Given the description of an element on the screen output the (x, y) to click on. 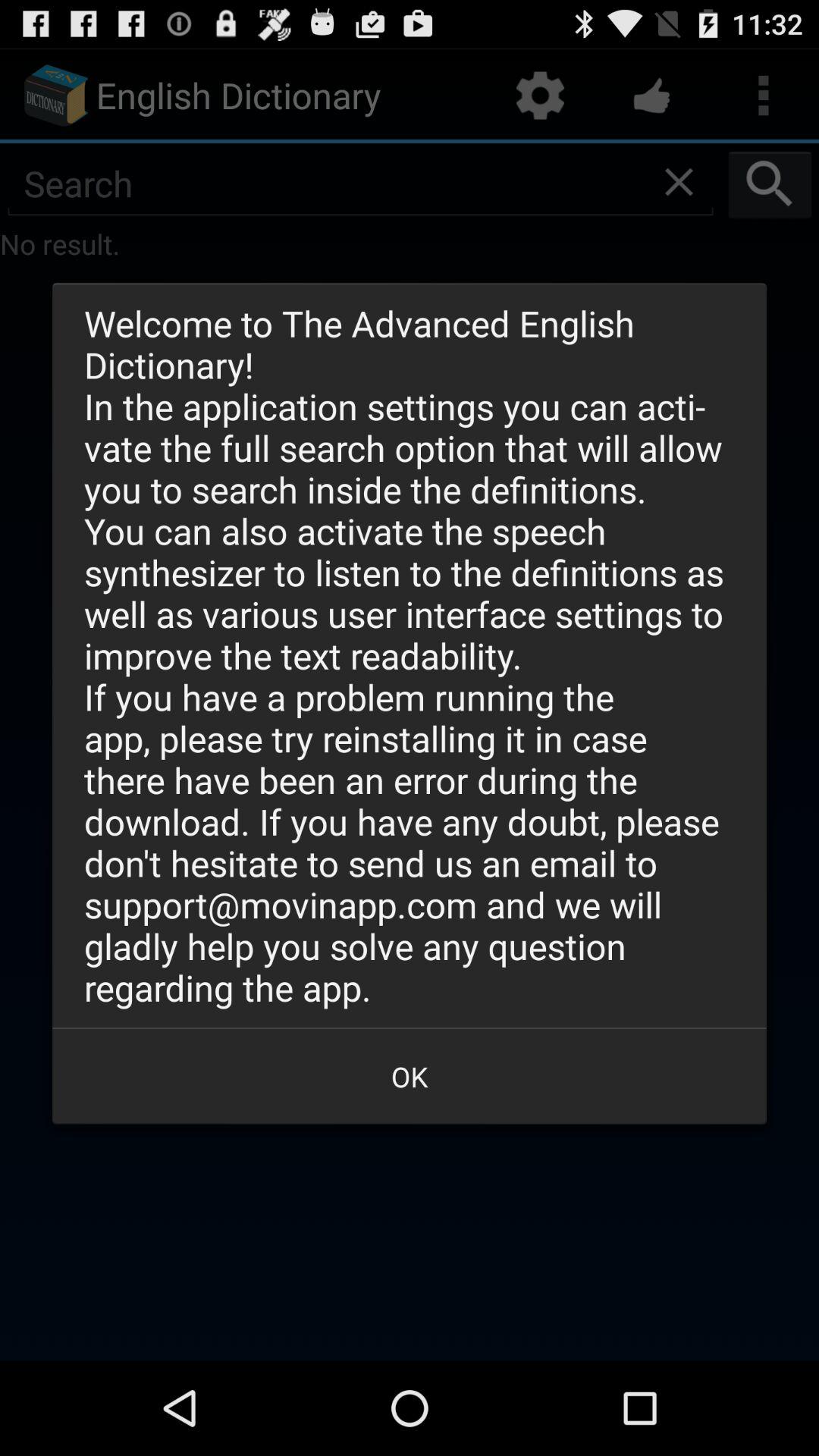
tap icon at the bottom (409, 1076)
